Given the description of an element on the screen output the (x, y) to click on. 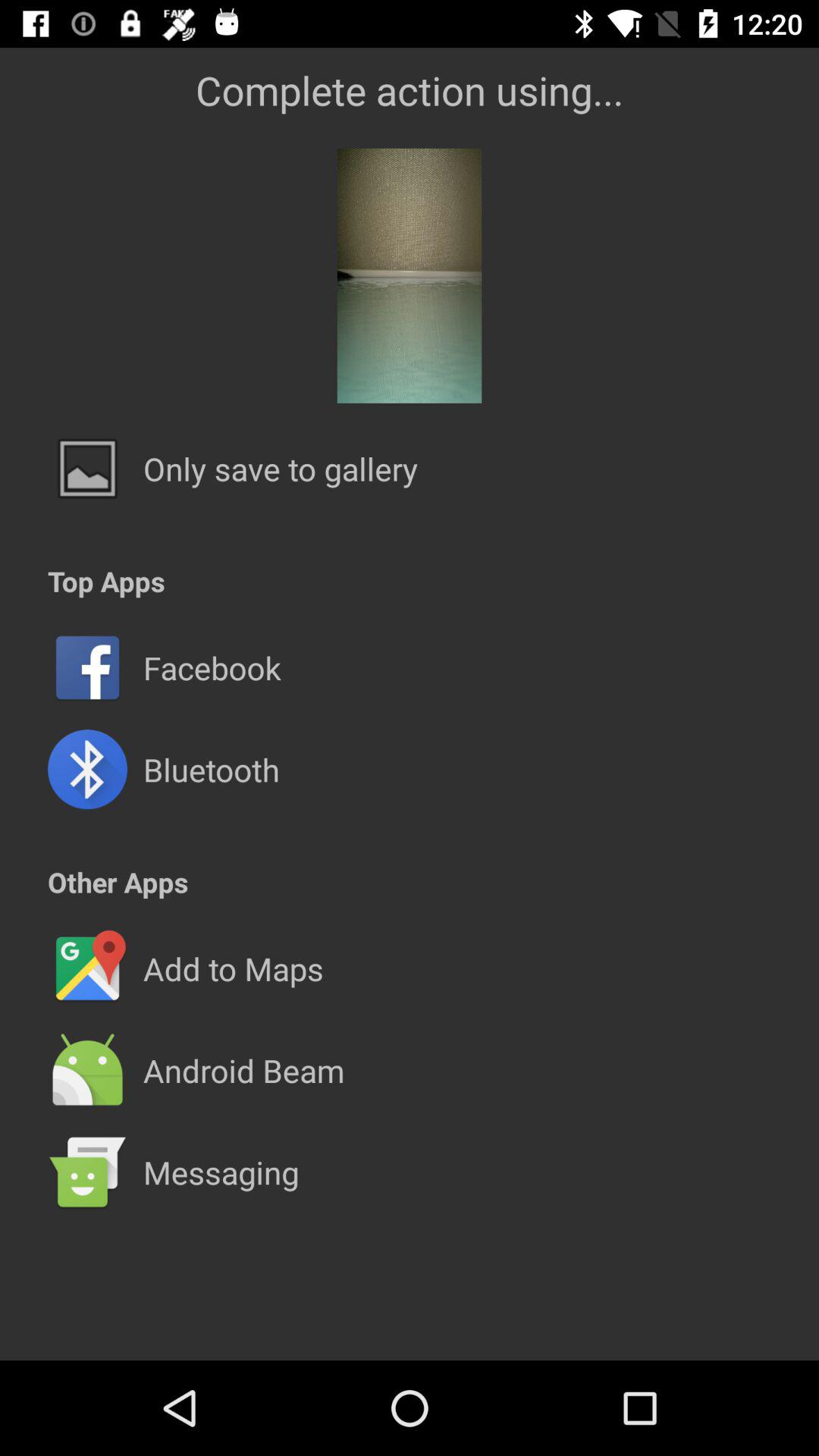
turn on the top apps (105, 581)
